Given the description of an element on the screen output the (x, y) to click on. 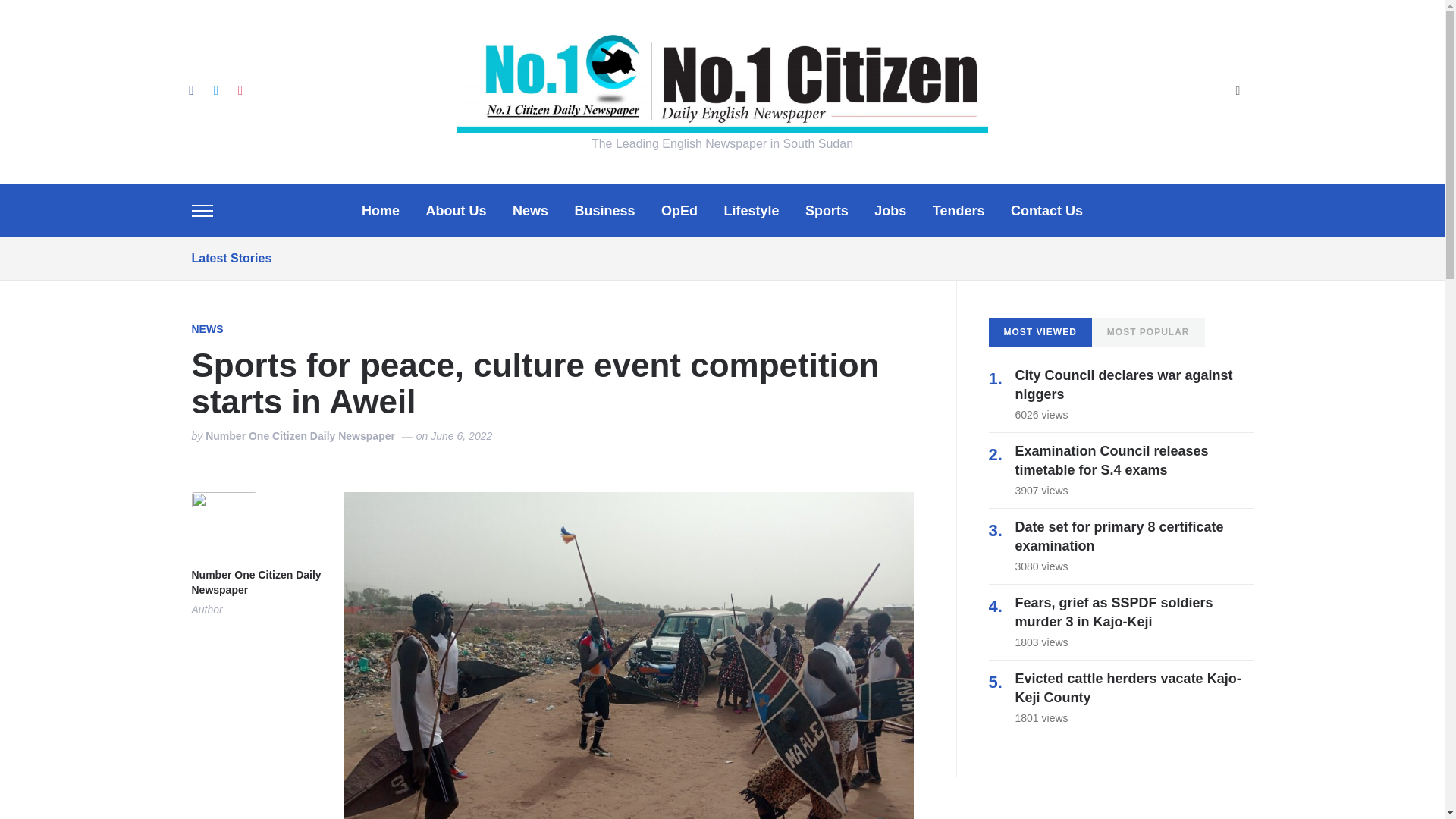
twitter (216, 88)
Search (1237, 91)
Posts by Number One Citizen Daily Newspaper (255, 583)
facebook (190, 88)
Friend me on Facebook (190, 88)
Follow Me (216, 88)
Posts by Number One Citizen Daily Newspaper (299, 436)
instagram (239, 88)
Home (379, 210)
